Given the description of an element on the screen output the (x, y) to click on. 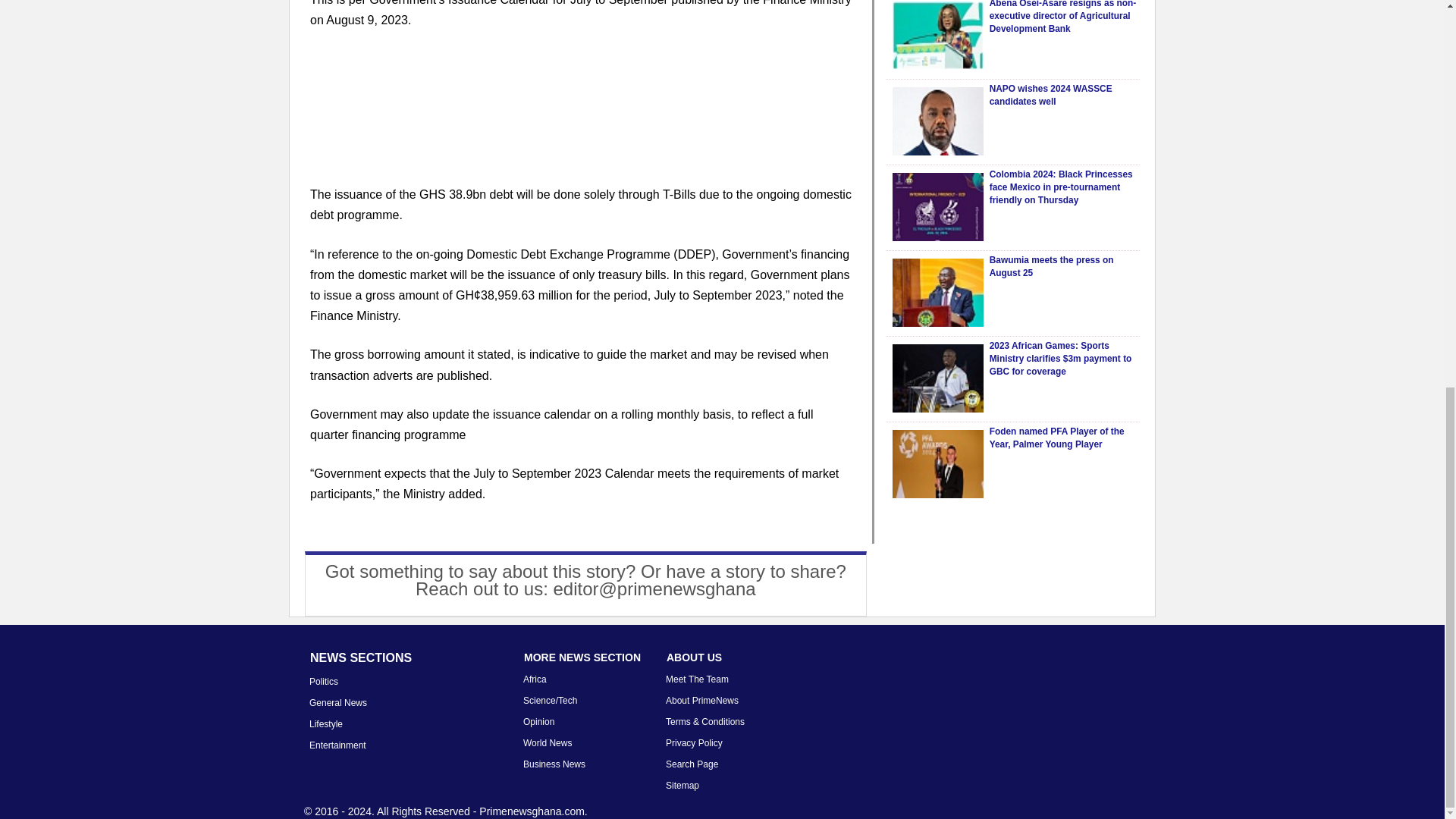
Bawumia meets the press on August 25 (1051, 266)
Advertisement (581, 116)
Politics (322, 681)
General News (337, 702)
NAPO wishes 2024 WASSCE candidates well (1051, 95)
Foden named PFA Player of the Year, Palmer Young Player (1057, 437)
